Given the description of an element on the screen output the (x, y) to click on. 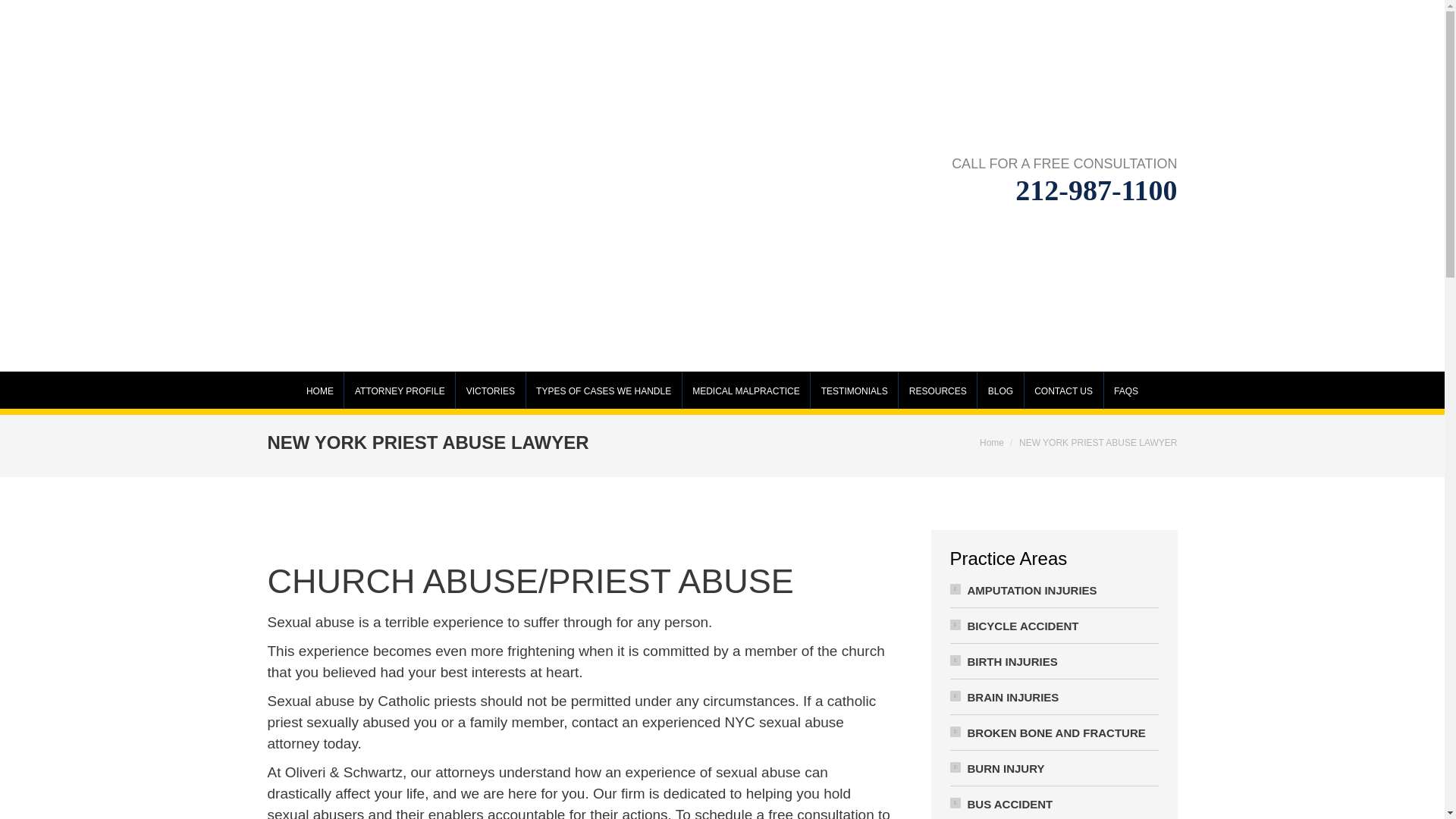
TYPES OF CASES WE HANDLE (603, 392)
ATTORNEY PROFILE (400, 392)
HOME (319, 392)
VICTORIES (490, 392)
